Given the description of an element on the screen output the (x, y) to click on. 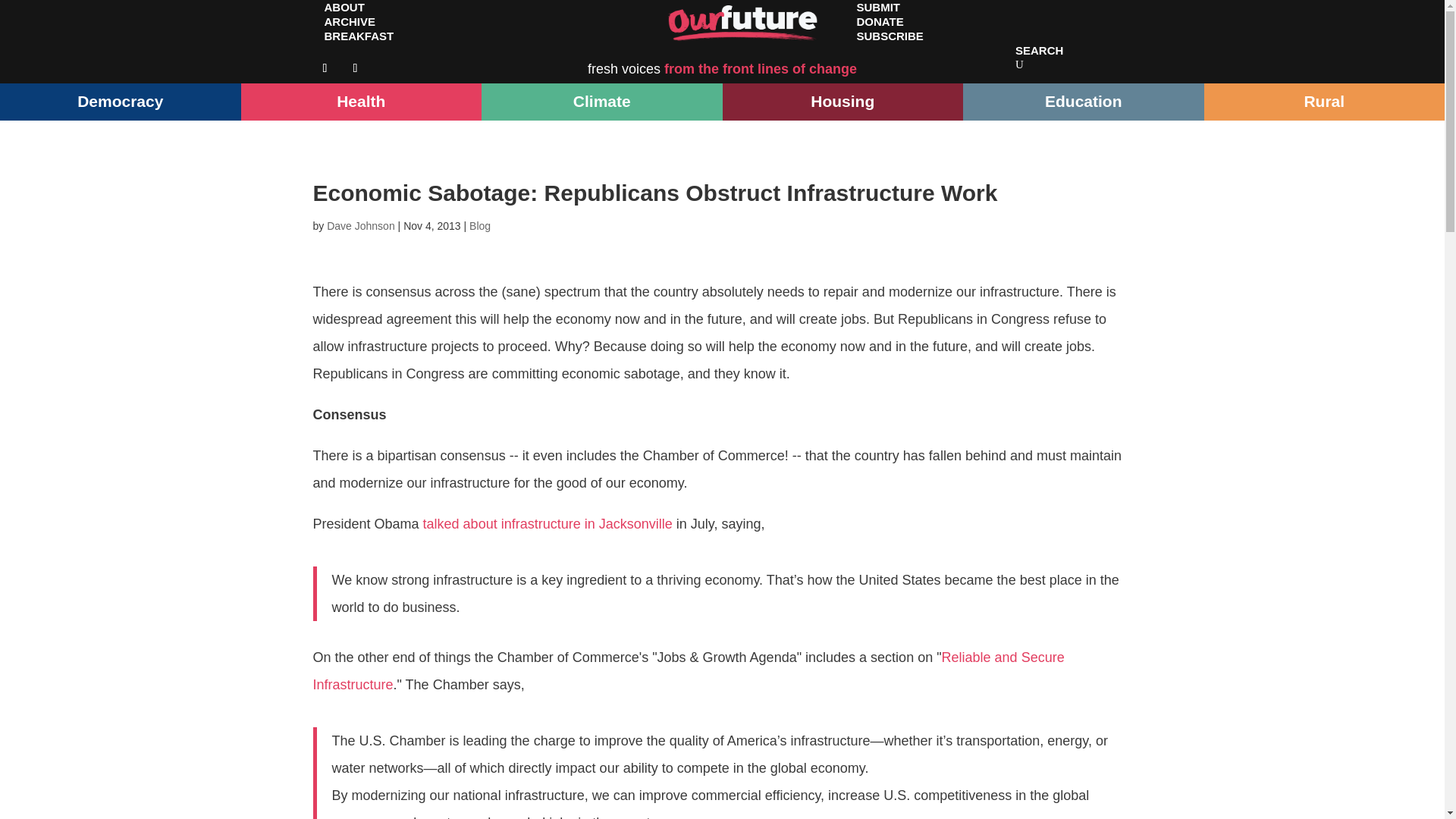
ABOUT (344, 13)
SEARCH (1039, 50)
SUBSCRIBE (889, 35)
Reliable and Secure Infrastructure (688, 671)
Posts by Dave Johnson (360, 225)
SUBMIT (877, 13)
DONATE (879, 21)
BREAKFAST (358, 35)
ARCHIVE (350, 21)
talked about infrastructure in Jacksonville (547, 523)
Follow on X (354, 68)
Dave Johnson (360, 225)
Follow on Facebook (324, 68)
Blog (479, 225)
